Given the description of an element on the screen output the (x, y) to click on. 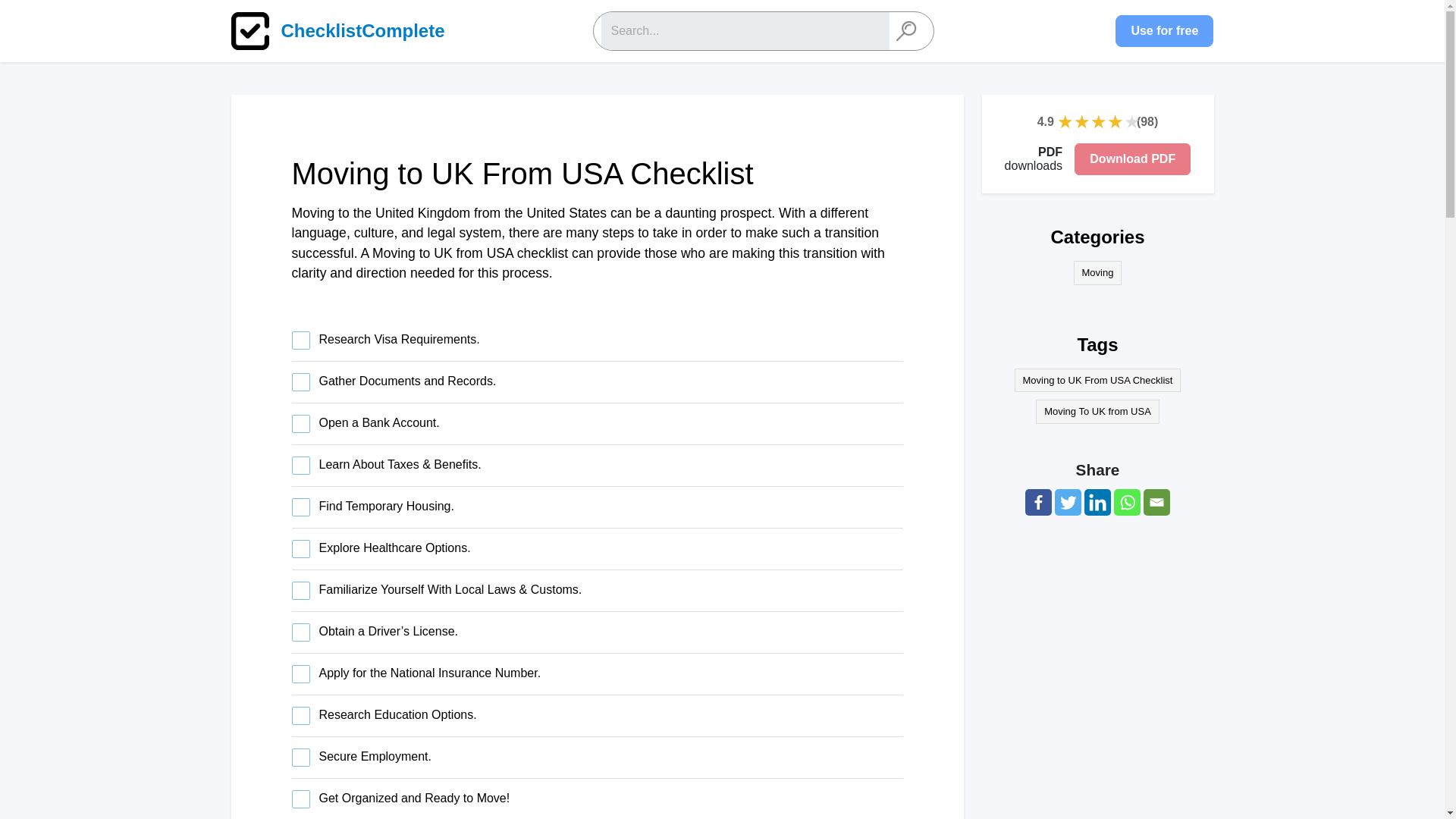
Twitter (1067, 501)
Facebook (1038, 501)
Moving (1098, 273)
Download PDF (1132, 159)
Email (1156, 501)
Use for free (1163, 30)
Moving to UK From USA Checklist (1097, 380)
Linkedin (1097, 501)
Whatsapp (1126, 501)
Moving To UK from USA (1096, 411)
